Given the description of an element on the screen output the (x, y) to click on. 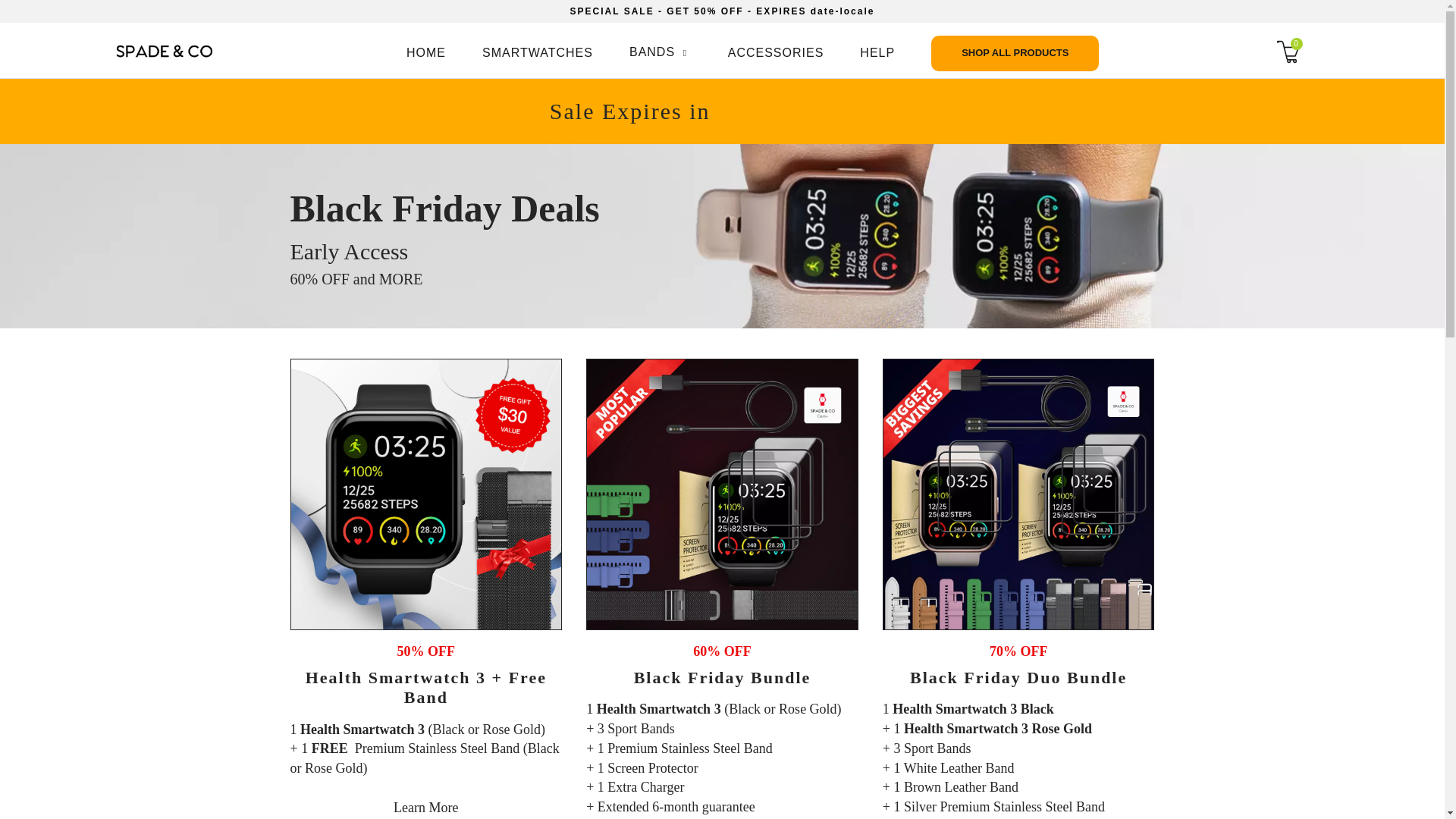
HOME (425, 53)
SHOP ALL PRODUCTS (1015, 53)
0 (1302, 53)
HELP (877, 53)
Learn More (425, 807)
SMARTWATCHES (536, 53)
ACCESSORIES (776, 53)
